Given the description of an element on the screen output the (x, y) to click on. 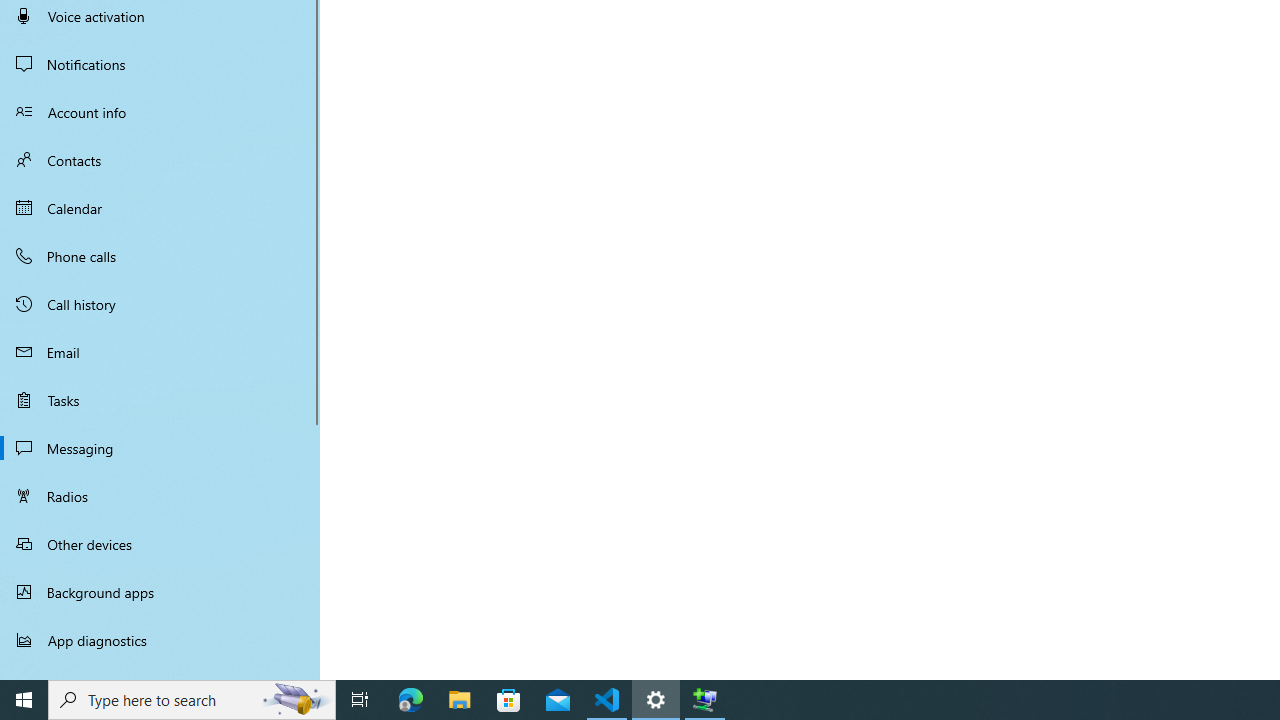
Account info (160, 111)
Background apps (160, 592)
Messaging (160, 448)
Other devices (160, 543)
Phone calls (160, 255)
